Given the description of an element on the screen output the (x, y) to click on. 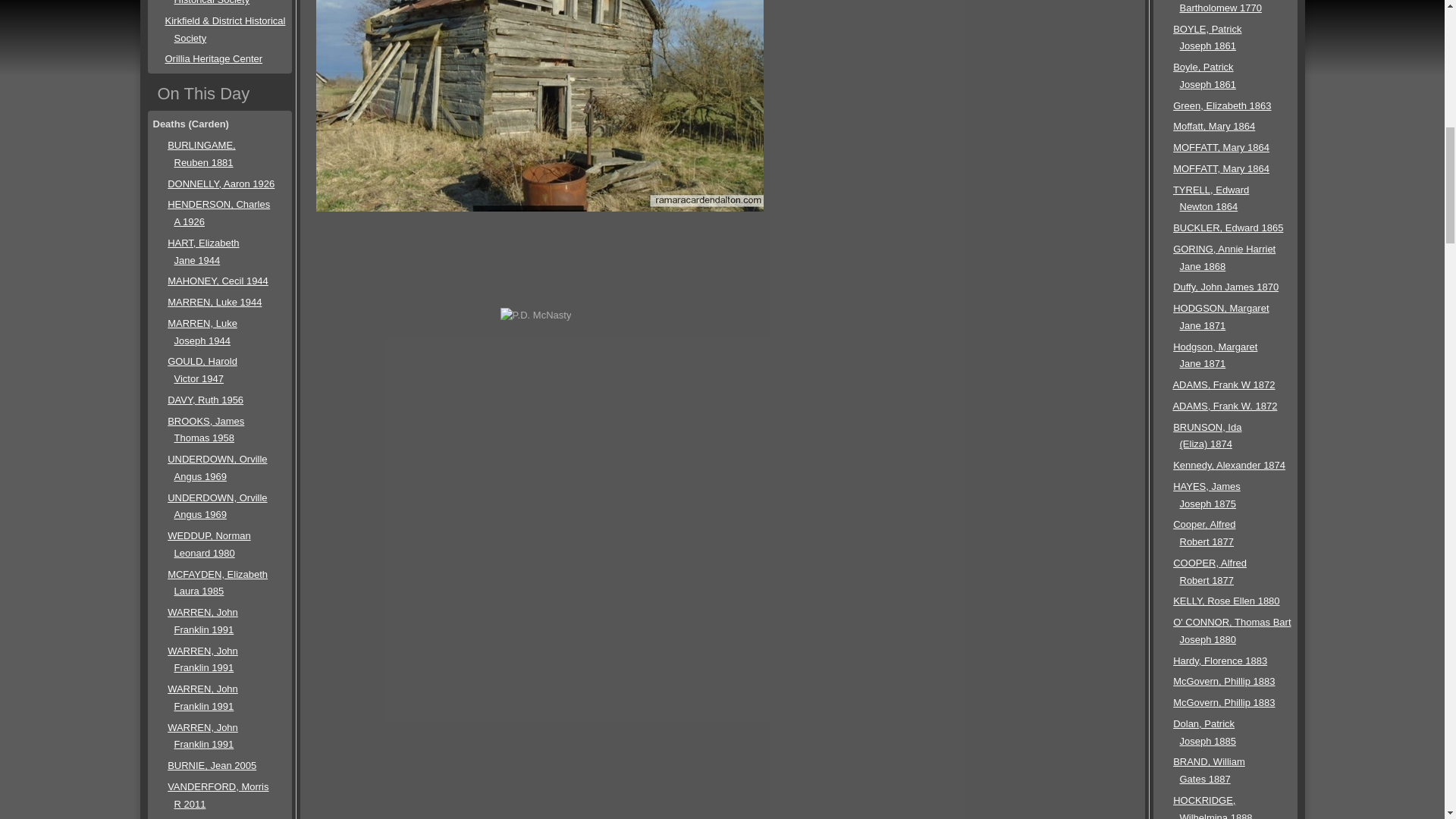
HENDERSON, Charles A 1926 (218, 213)
WARREN, John Franklin 1991 (202, 620)
UNDERDOWN, Orville Angus 1969 (216, 506)
MAHONEY, Cecil 1944 (217, 280)
Orillia Heritage Center (214, 58)
WEDDUP, Norman Leonard 1980 (208, 543)
Beaverton Thorah Eldon Historical Society (218, 2)
BROOKS, James Thomas 1958 (205, 429)
MCFAYDEN, Elizabeth Laura 1985 (217, 582)
WARREN, John Franklin 1991 (202, 697)
GOULD, Harold Victor 1947 (202, 369)
WARREN, John Franklin 1991 (202, 736)
DAVY, Ruth 1956 (205, 399)
VANDERFORD, Morris R 2011 (217, 795)
MARREN, Luke Joseph 1944 (202, 331)
